Given the description of an element on the screen output the (x, y) to click on. 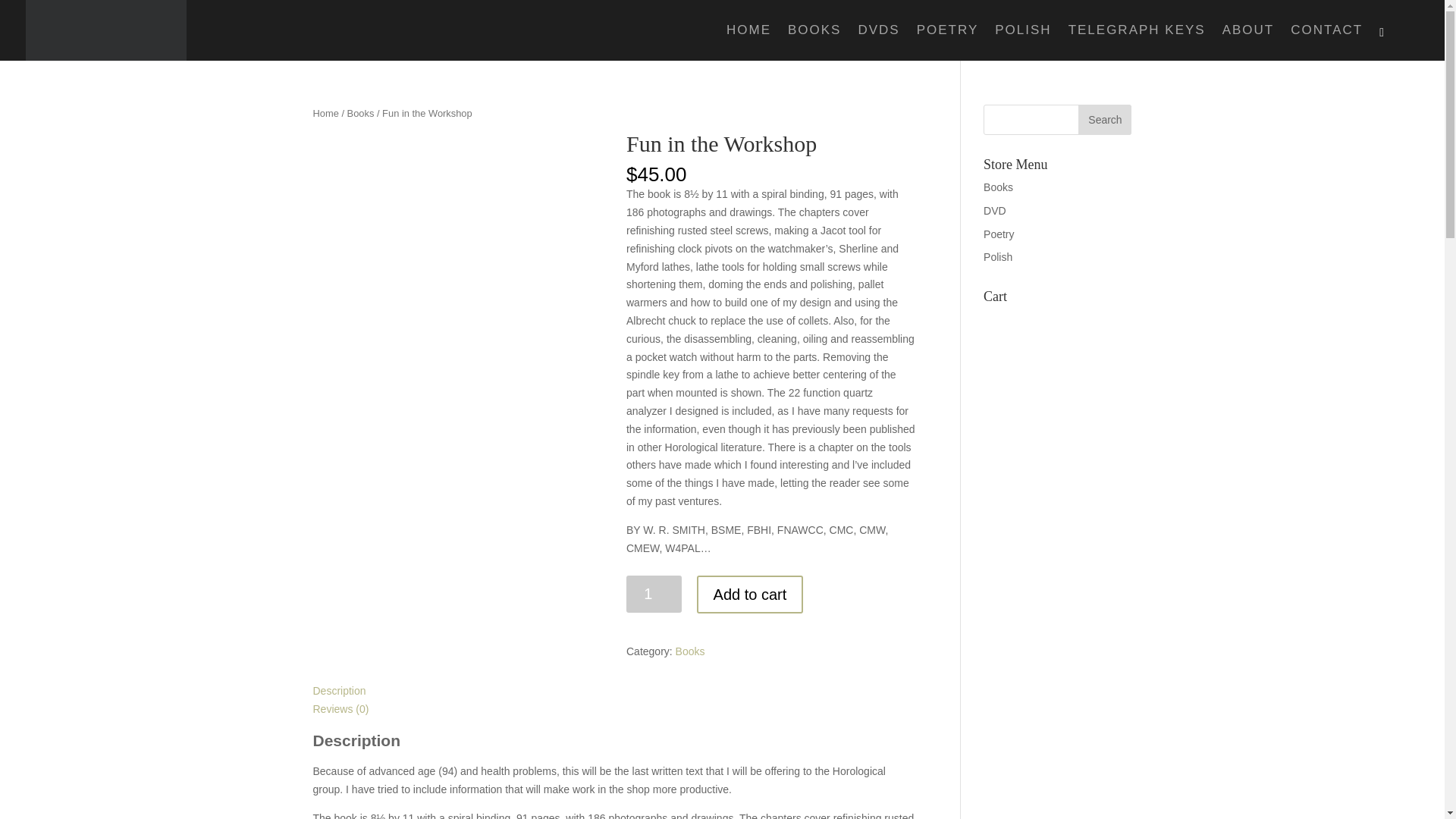
1 (653, 593)
BOOKS (814, 42)
POLISH (1022, 42)
Search (1104, 119)
Description (339, 690)
CONTACT (1326, 42)
HOME (748, 42)
Poetry (998, 234)
TELEGRAPH KEYS (1136, 42)
Books (998, 186)
Home (325, 112)
Books (360, 112)
DVD (995, 210)
DVDS (878, 42)
Add to cart (750, 594)
